Given the description of an element on the screen output the (x, y) to click on. 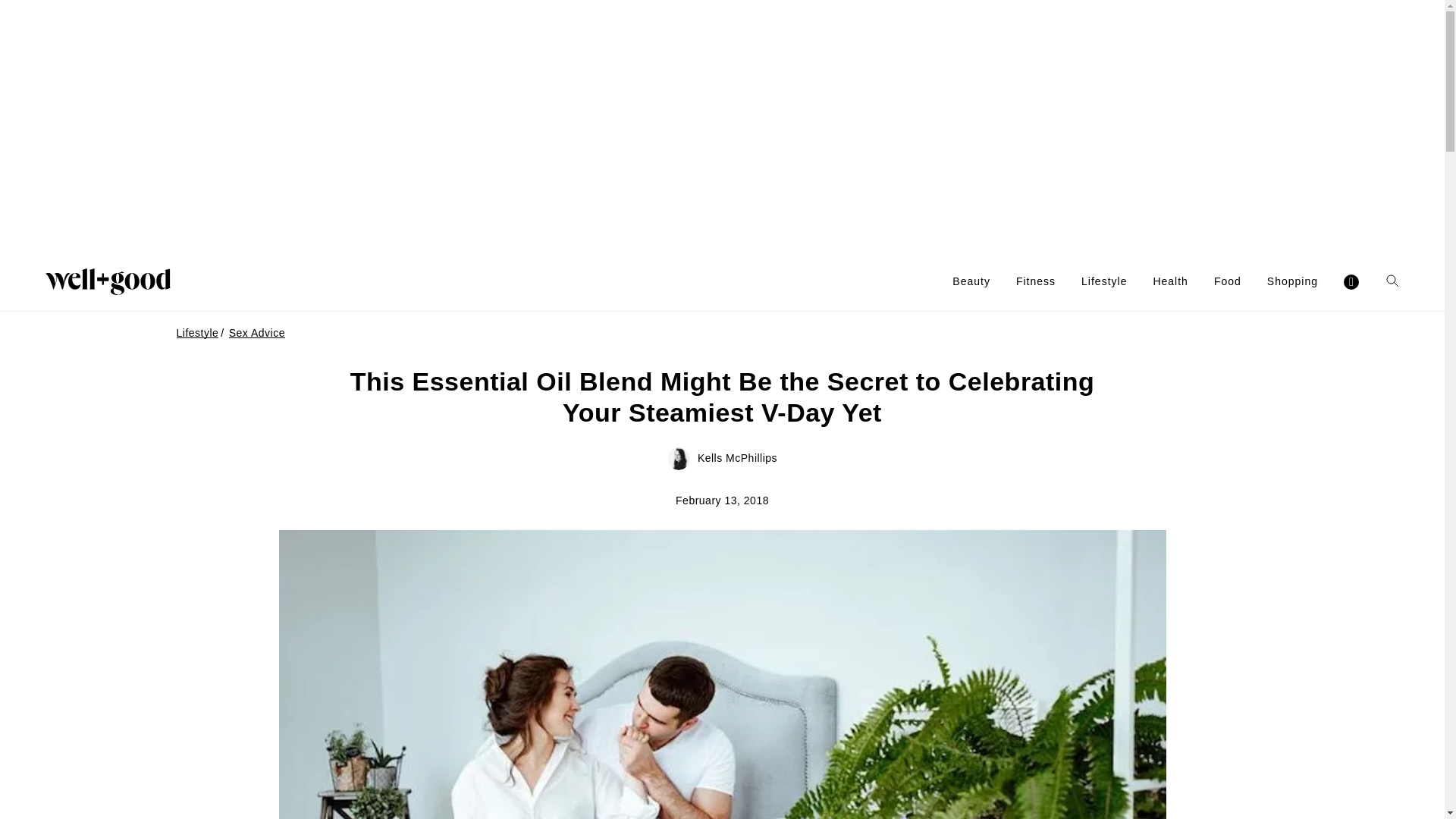
Beauty (971, 281)
Fitness (1035, 281)
Shopping (1291, 281)
Lifestyle (1103, 281)
Health (1170, 281)
Food (1227, 281)
